Given the description of an element on the screen output the (x, y) to click on. 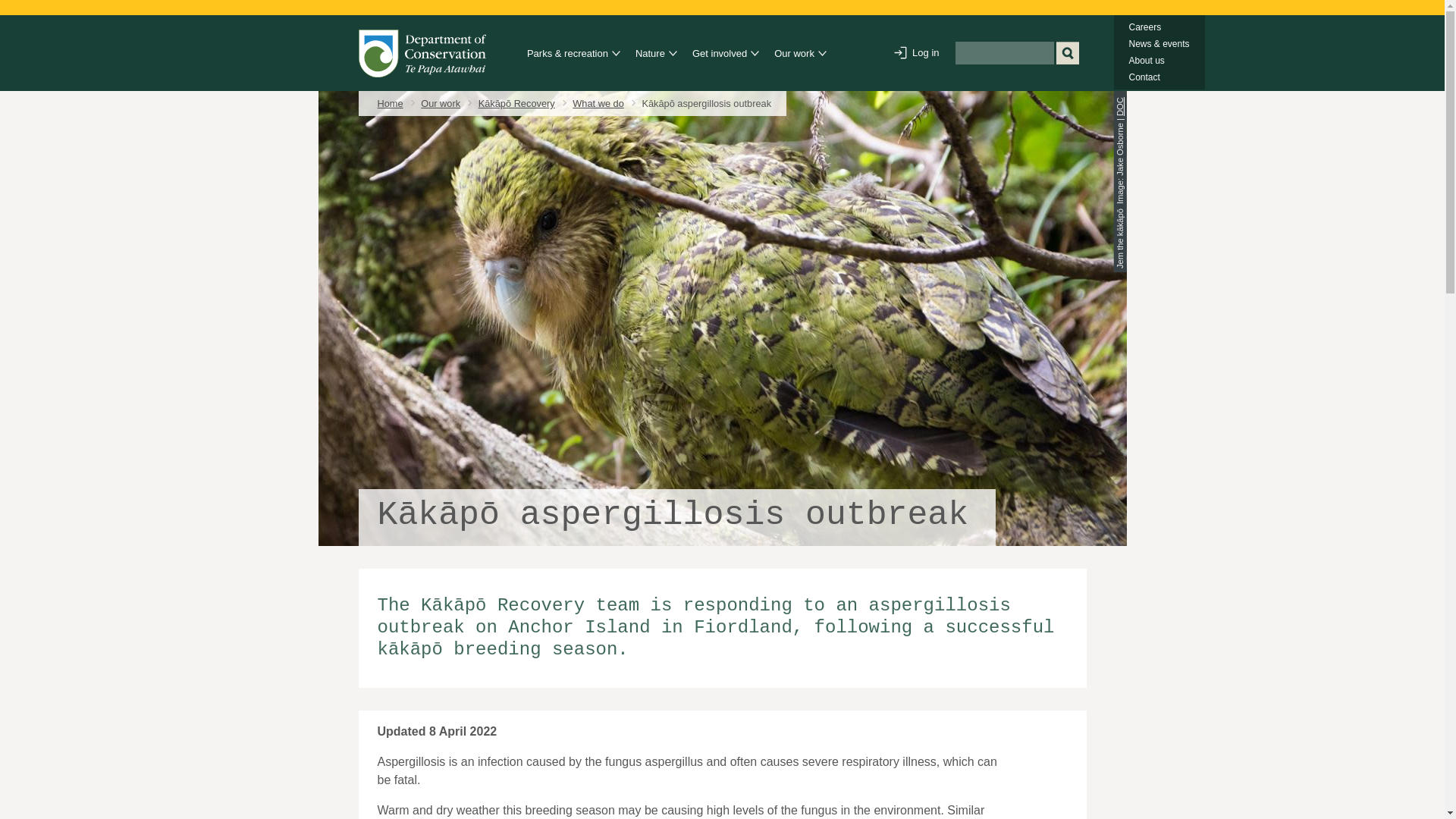
Search (1066, 52)
Search (1066, 52)
Get involved (722, 53)
Nature (651, 53)
Search (1066, 52)
